Given the description of an element on the screen output the (x, y) to click on. 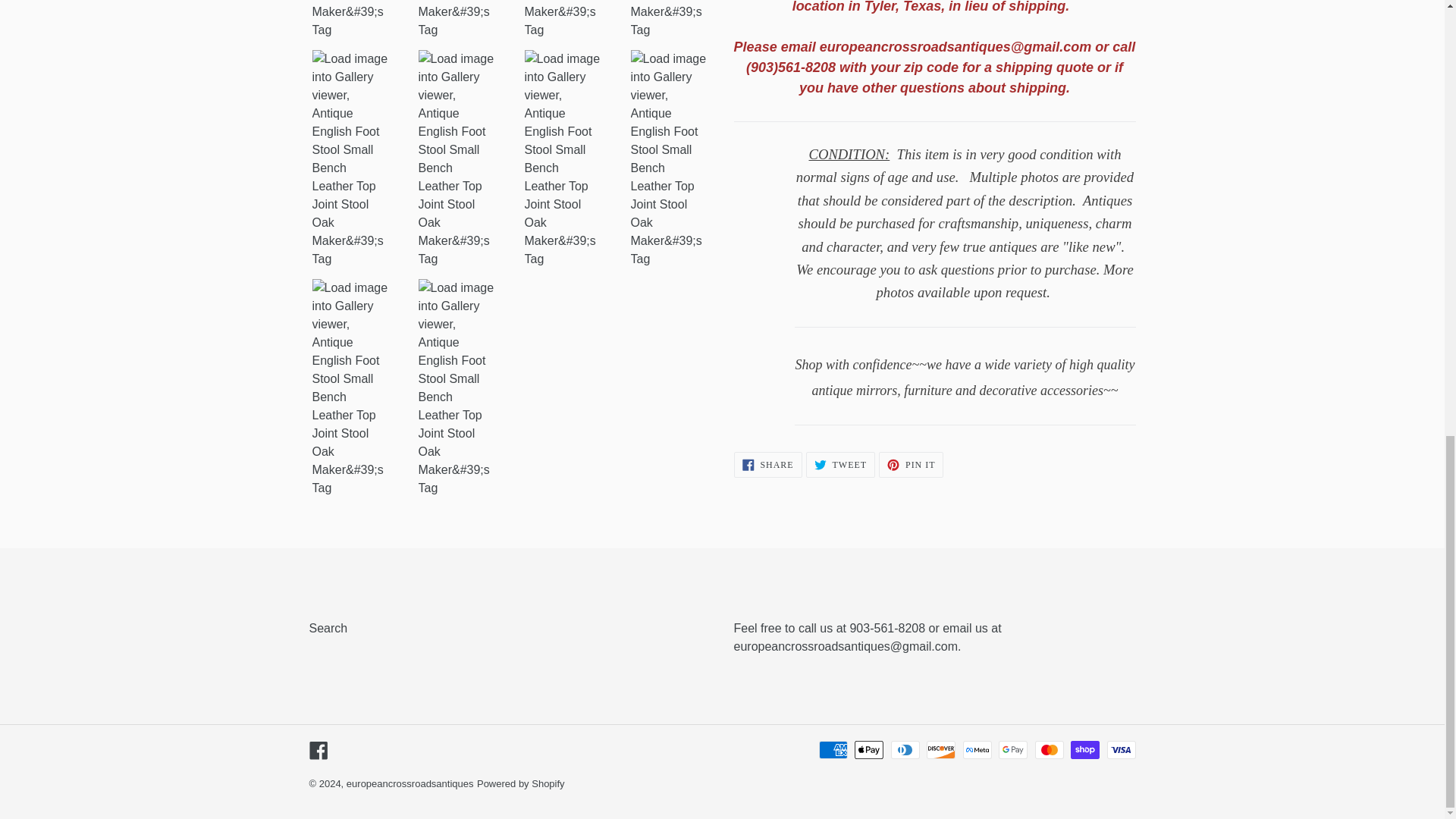
Facebook (318, 749)
Search (327, 627)
